Given the description of an element on the screen output the (x, y) to click on. 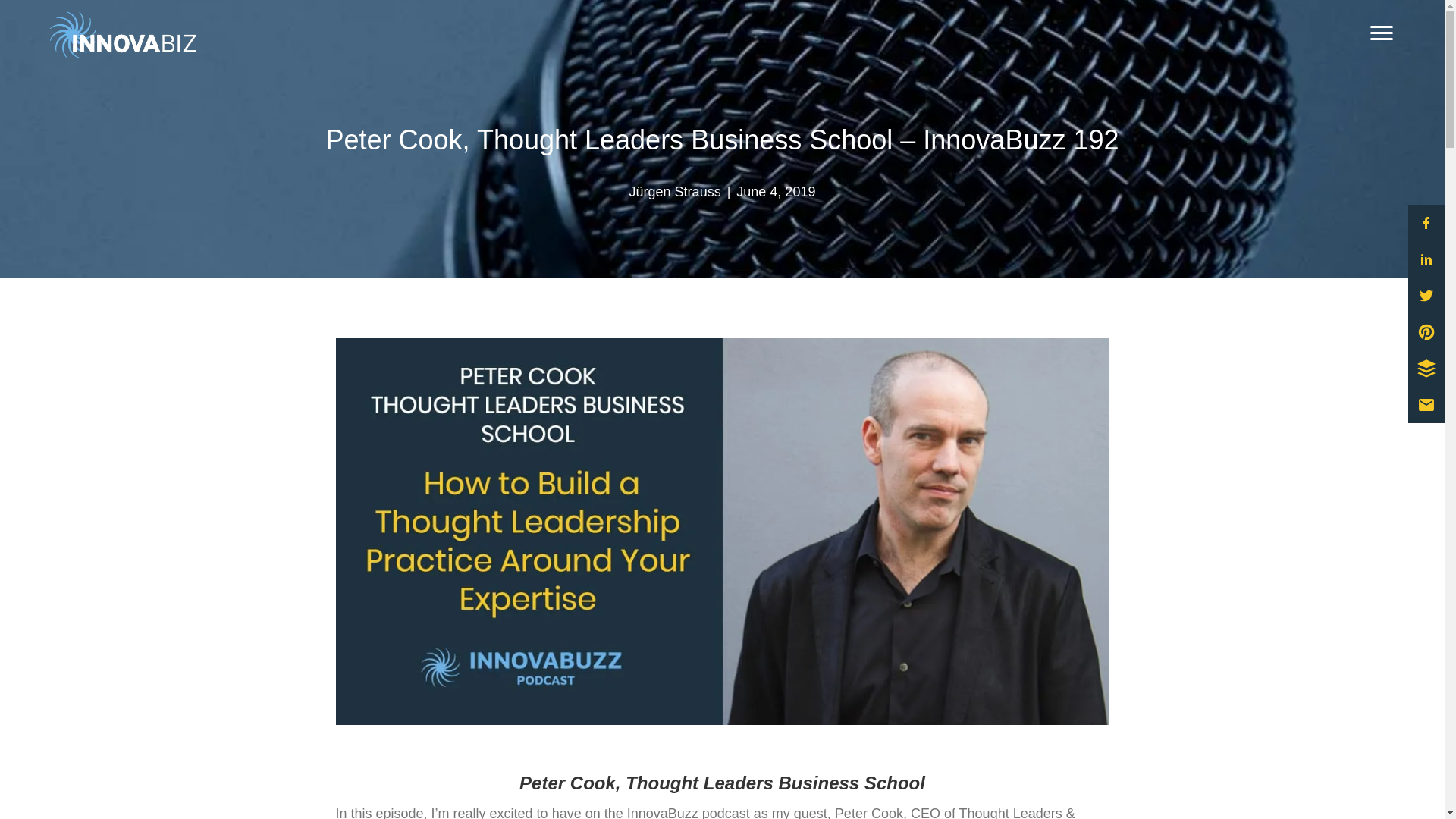
Innovabiz_Blue_White_RGB_500px_tn001 Element type: hover (121, 34)
Peter Cook Element type: hover (721, 531)
